Given the description of an element on the screen output the (x, y) to click on. 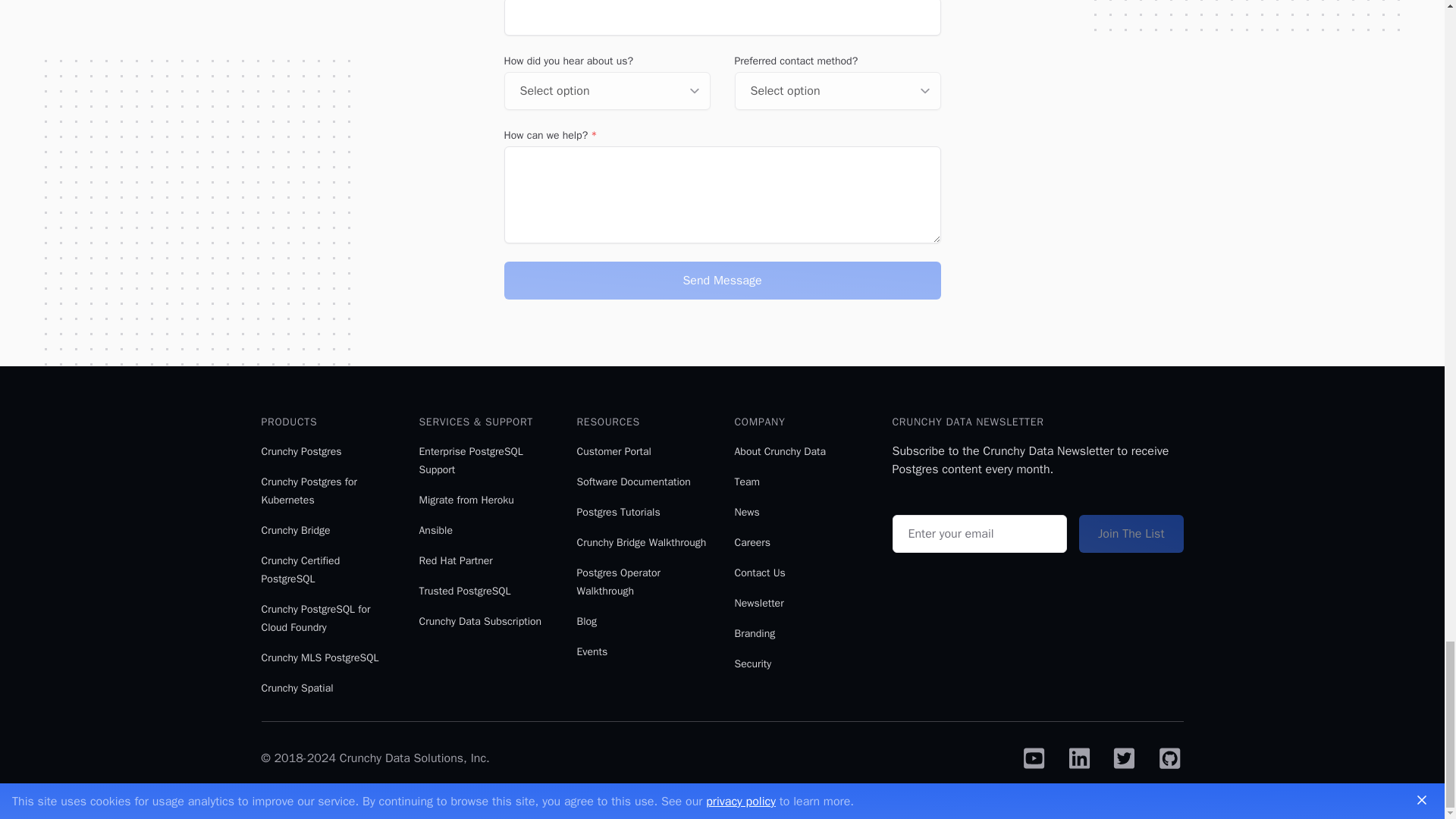
Blog (586, 621)
Trusted PostgreSQL (465, 590)
Crunchy Spatial (296, 687)
Red Hat Partner (455, 560)
Enterprise PostgreSQL Support (470, 460)
Postgres Tutorials (617, 512)
Crunchy Postgres (300, 451)
Crunchy Bridge Walkthrough (641, 542)
About Crunchy Data (779, 451)
Migrate from Heroku (466, 499)
